Given the description of an element on the screen output the (x, y) to click on. 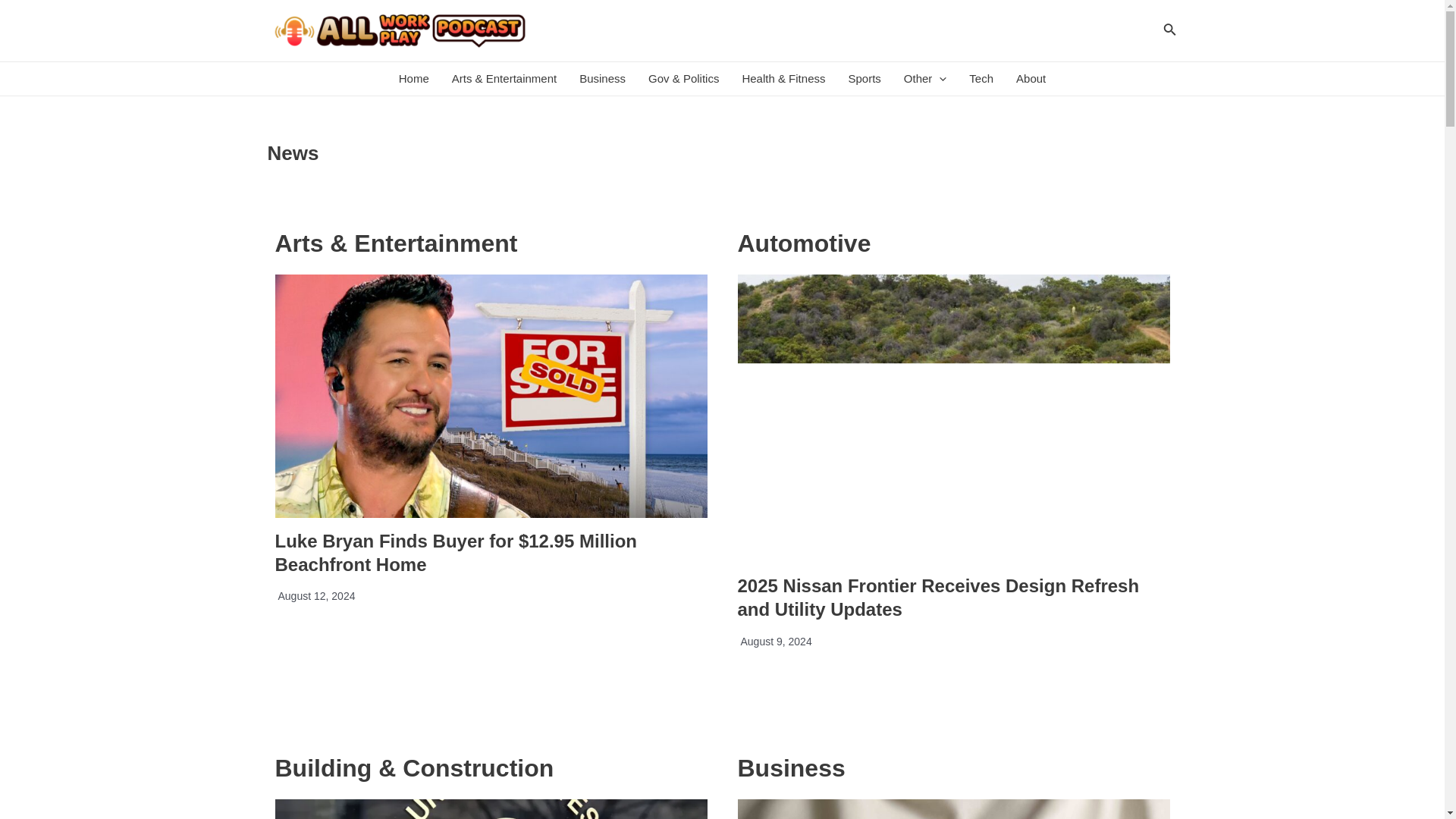
Home (414, 78)
Sports (863, 78)
Tech (981, 78)
Other (925, 78)
Business (602, 78)
About (1030, 78)
